Given the description of an element on the screen output the (x, y) to click on. 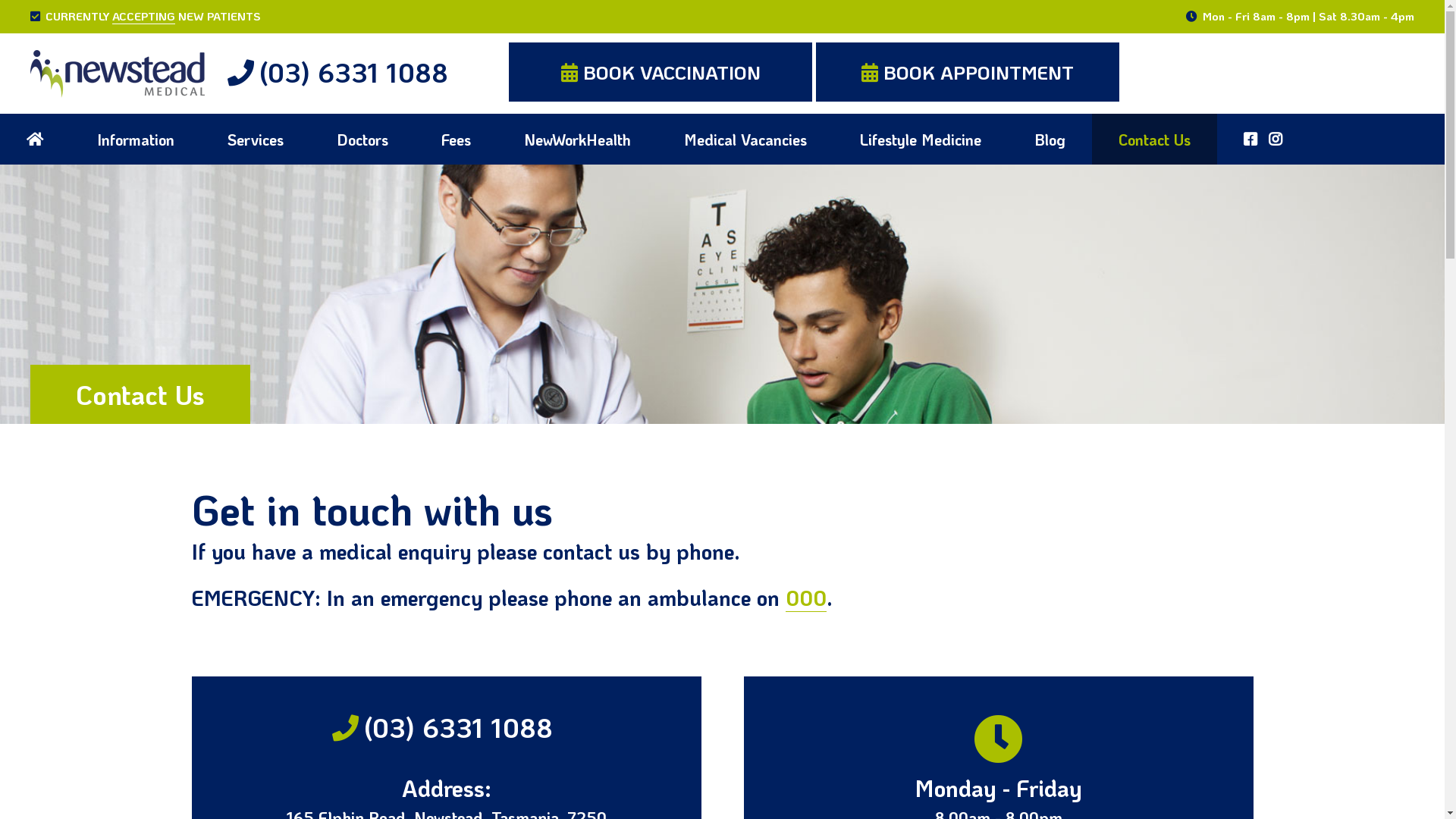
Fees Element type: text (455, 138)
Medical Vacancies Element type: text (745, 138)
Blog Element type: text (1049, 138)
Information Element type: text (135, 138)
Contact Us Element type: text (1154, 138)
Services Element type: text (255, 138)
BOOK VACCINATION Element type: text (660, 71)
NewWorkHealth Element type: text (577, 138)
(03) 6331 1088 Element type: text (446, 727)
000 Element type: text (805, 597)
165 Elphin Rd Newstead, TAS 7250 Element type: text (1314, 46)
(03) 6331 1088 Element type: text (337, 71)
Doctors Element type: text (362, 138)
Lifestyle Medicine Element type: text (920, 138)
BOOK APPOINTMENT Element type: text (967, 71)
